Given the description of an element on the screen output the (x, y) to click on. 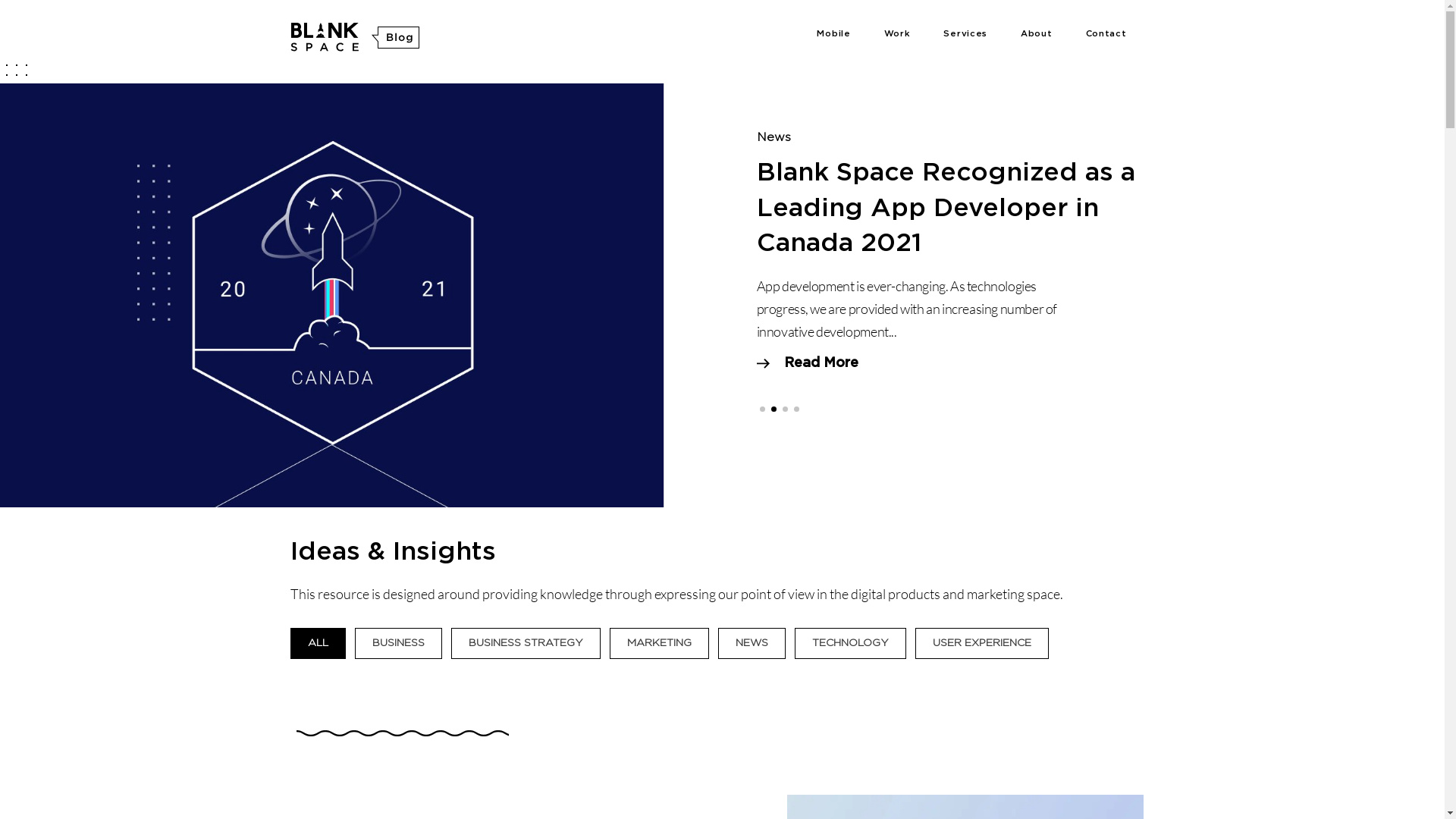
Blog Element type: hover (354, 34)
Work Element type: text (897, 33)
ALL Element type: text (318, 642)
1 (866) 508-1440 Element type: text (758, 449)
BUSINESS STRATEGY Element type: text (525, 642)
Contact Element type: text (1106, 33)
MARKETING Element type: text (658, 642)
USER EXPERIENCE Element type: text (982, 642)
DROP US A LINE Element type: text (722, 498)
Technology Element type: text (908, 137)
NEWS Element type: text (751, 642)
News Element type: text (775, 137)
TECHNOLOGY Element type: text (849, 642)
About Element type: text (1036, 33)
Services Element type: text (965, 33)
How Apple Plans to Redefine the App Industry with App Clips Element type: text (946, 207)
BUSINESS Element type: text (397, 642)
Mobile Element type: text (833, 33)
Read More Element type: text (807, 363)
Business Strategy Element type: text (814, 137)
